Given the description of an element on the screen output the (x, y) to click on. 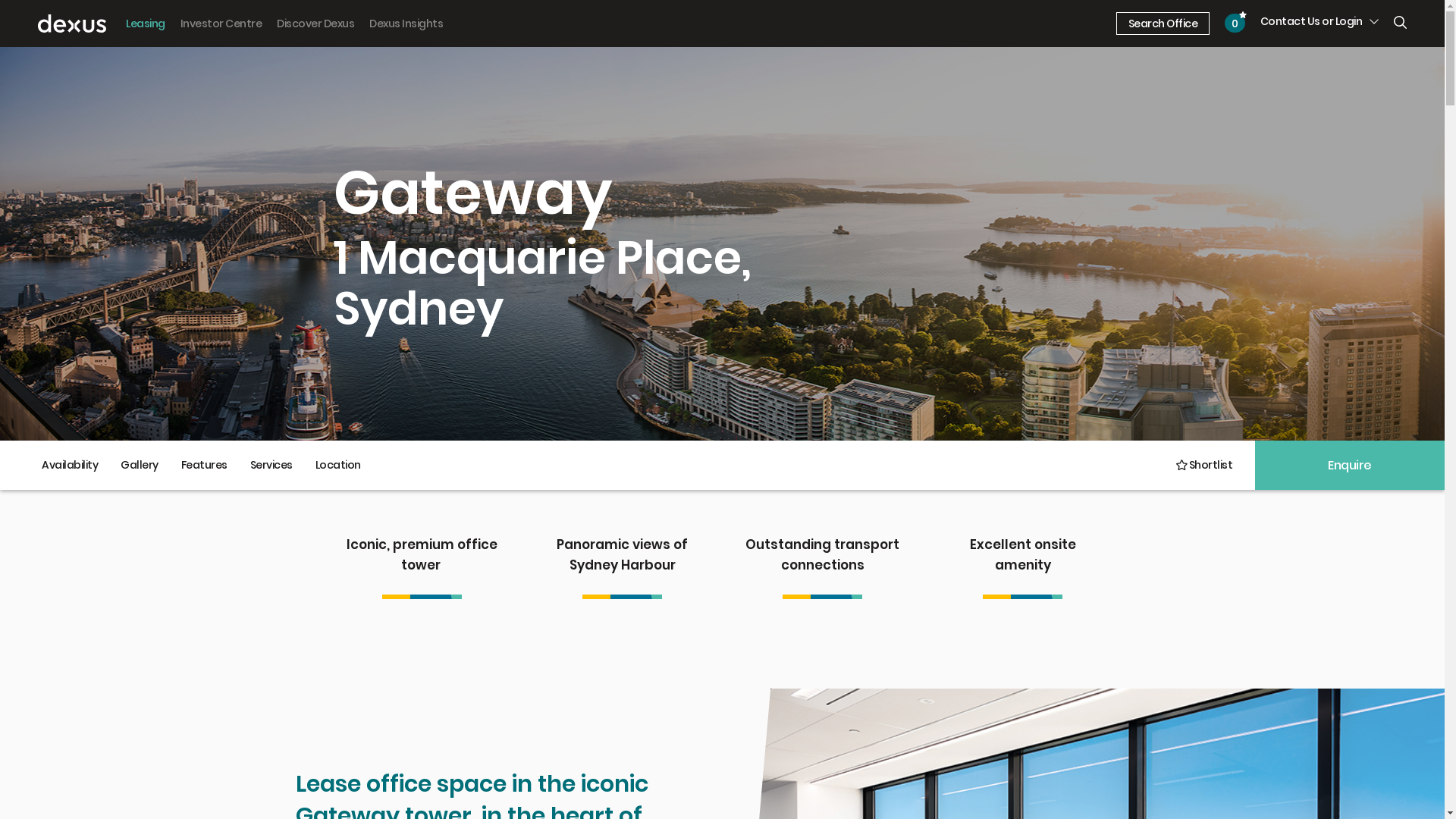
Features Element type: text (203, 464)
Gallery Element type: text (139, 464)
Search Office Element type: text (1162, 23)
Enquire Element type: text (1349, 464)
Investor Centre Element type: text (220, 23)
Shortlist Element type: text (1202, 464)
Services Element type: text (270, 464)
Dexus Insights Element type: text (405, 23)
Contact Us or Login Element type: text (1319, 21)
0 Element type: text (1234, 22)
Availability Element type: text (69, 464)
Leasing Element type: text (145, 23)
Location Element type: text (337, 464)
Discover Dexus Element type: text (315, 23)
